Given the description of an element on the screen output the (x, y) to click on. 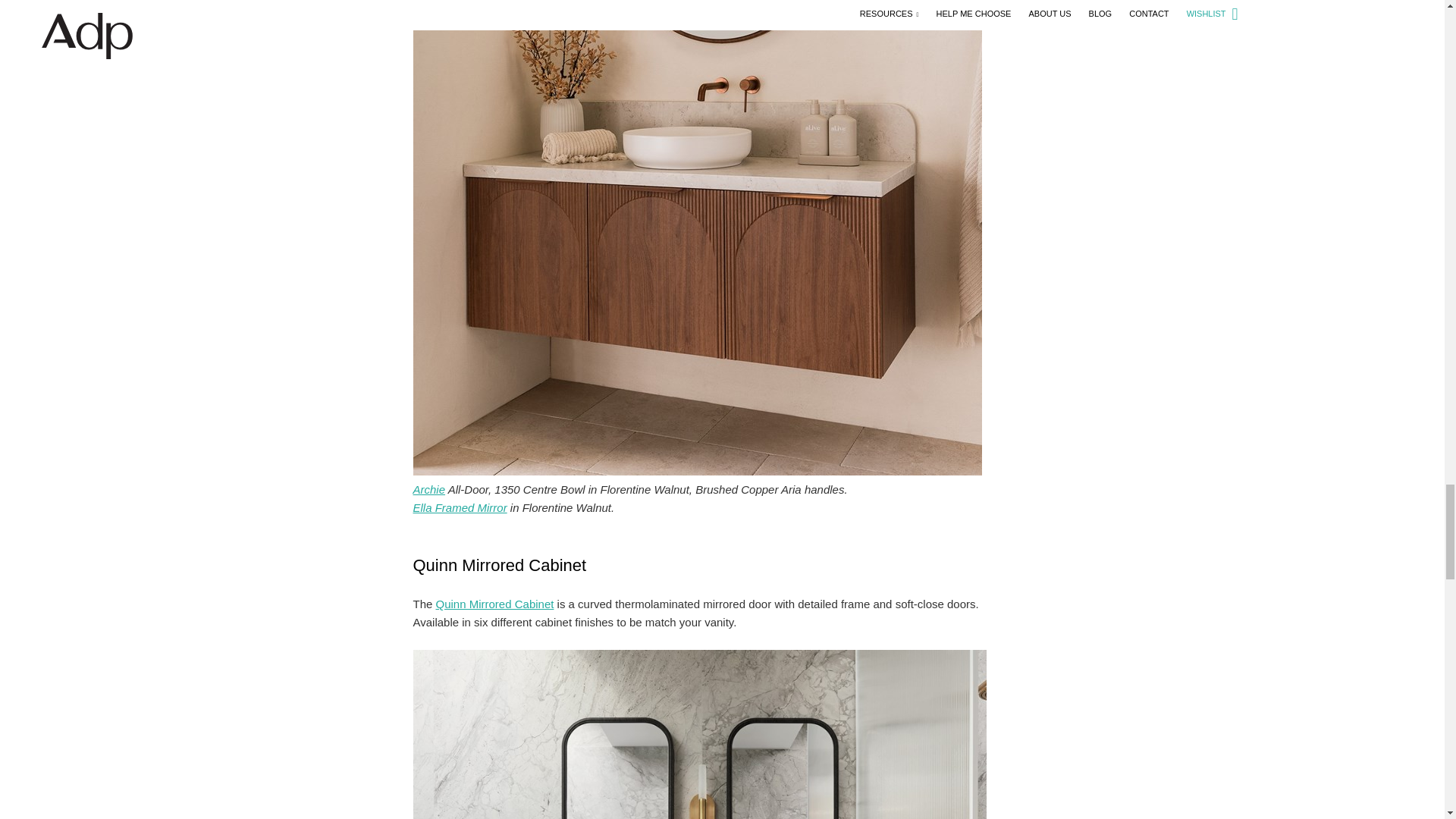
Quinn (494, 603)
Archie (428, 489)
Ella (459, 507)
